Given the description of an element on the screen output the (x, y) to click on. 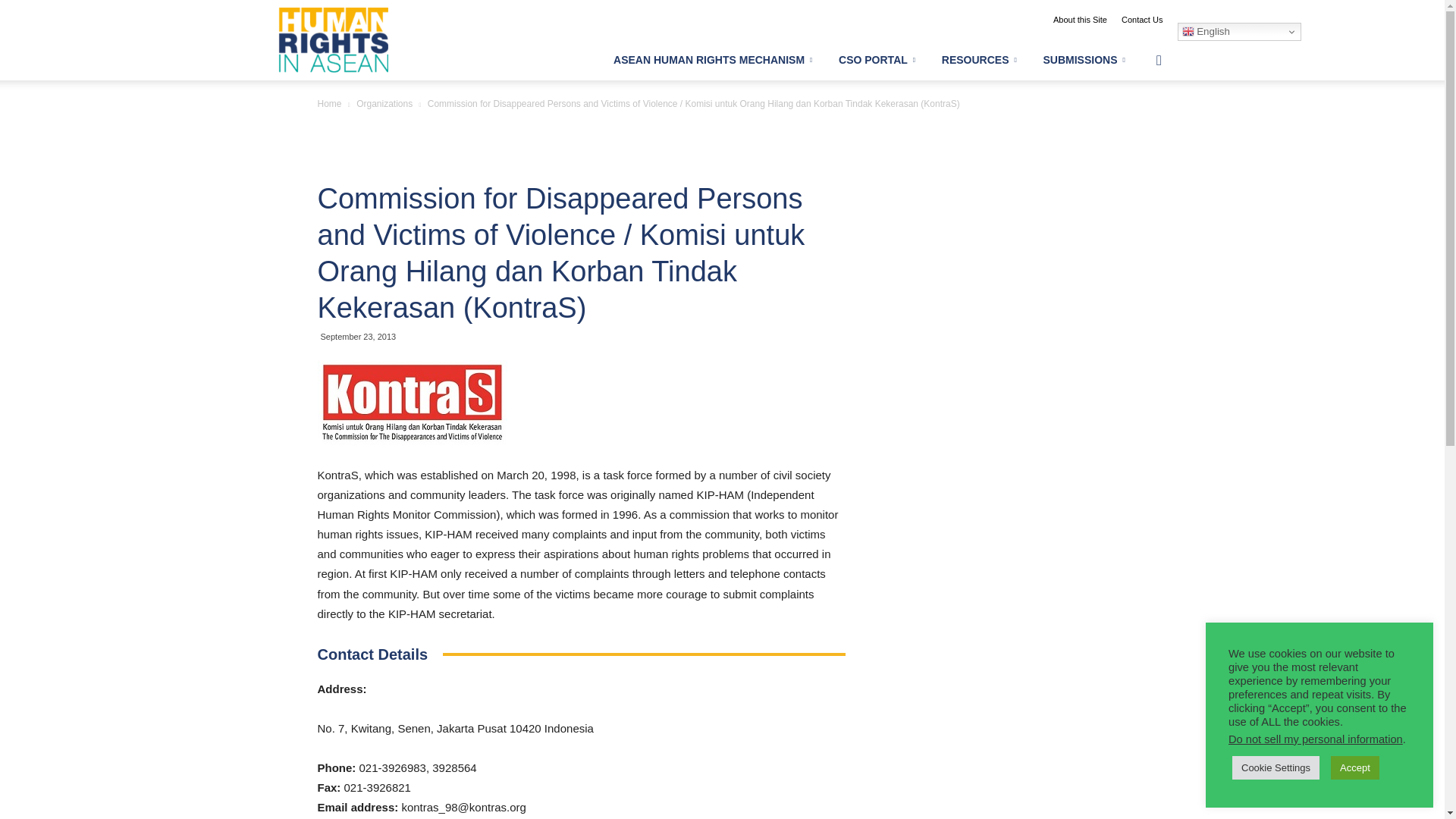
View all posts in Organizations (384, 103)
